Given the description of an element on the screen output the (x, y) to click on. 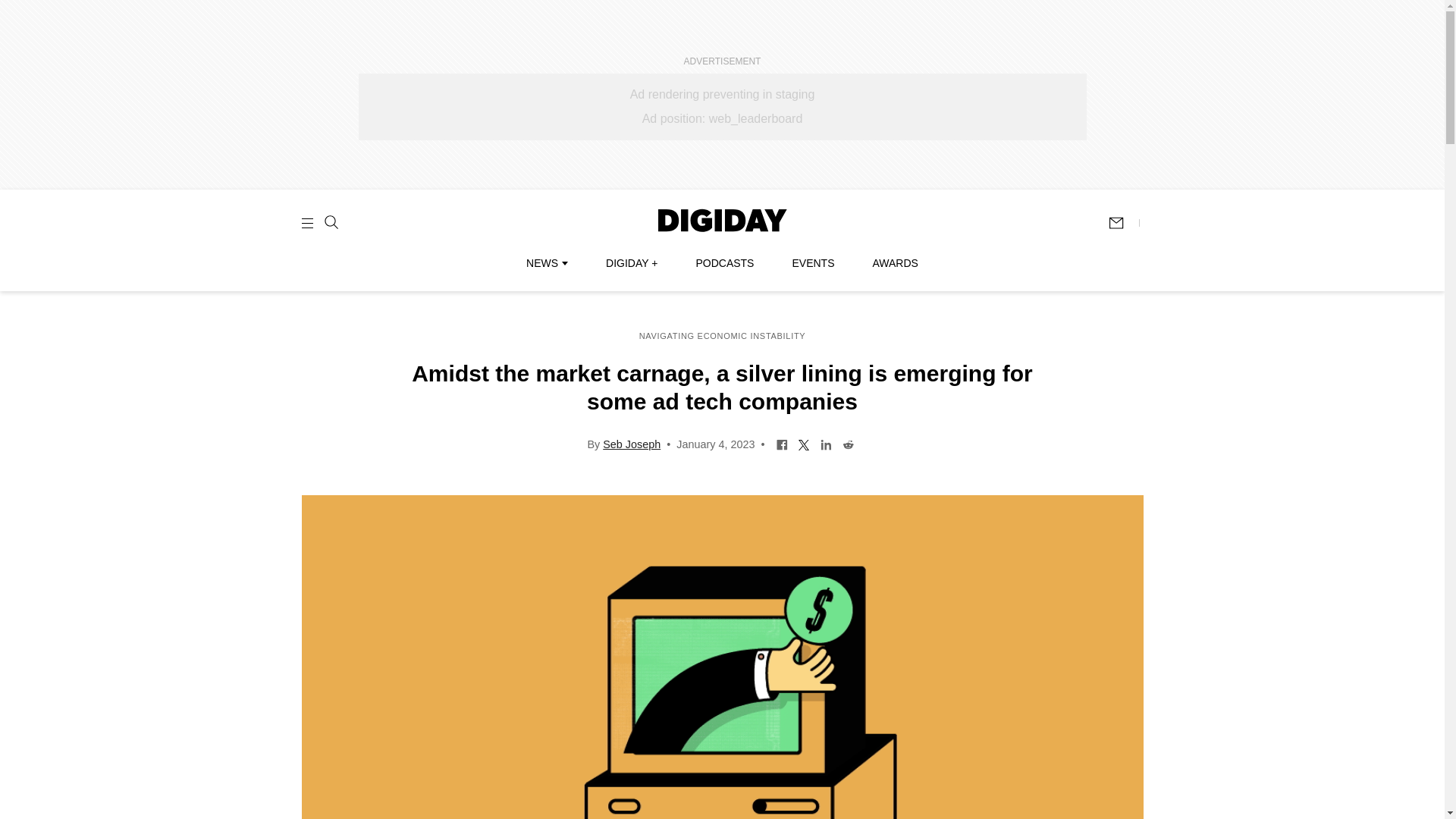
Share on Facebook (782, 443)
AWARDS (894, 262)
Share on LinkedIn (825, 443)
Subscribe (1123, 223)
Share on Reddit (847, 443)
EVENTS (813, 262)
NEWS (546, 262)
Share on Twitter (803, 443)
PODCASTS (725, 262)
